Given the description of an element on the screen output the (x, y) to click on. 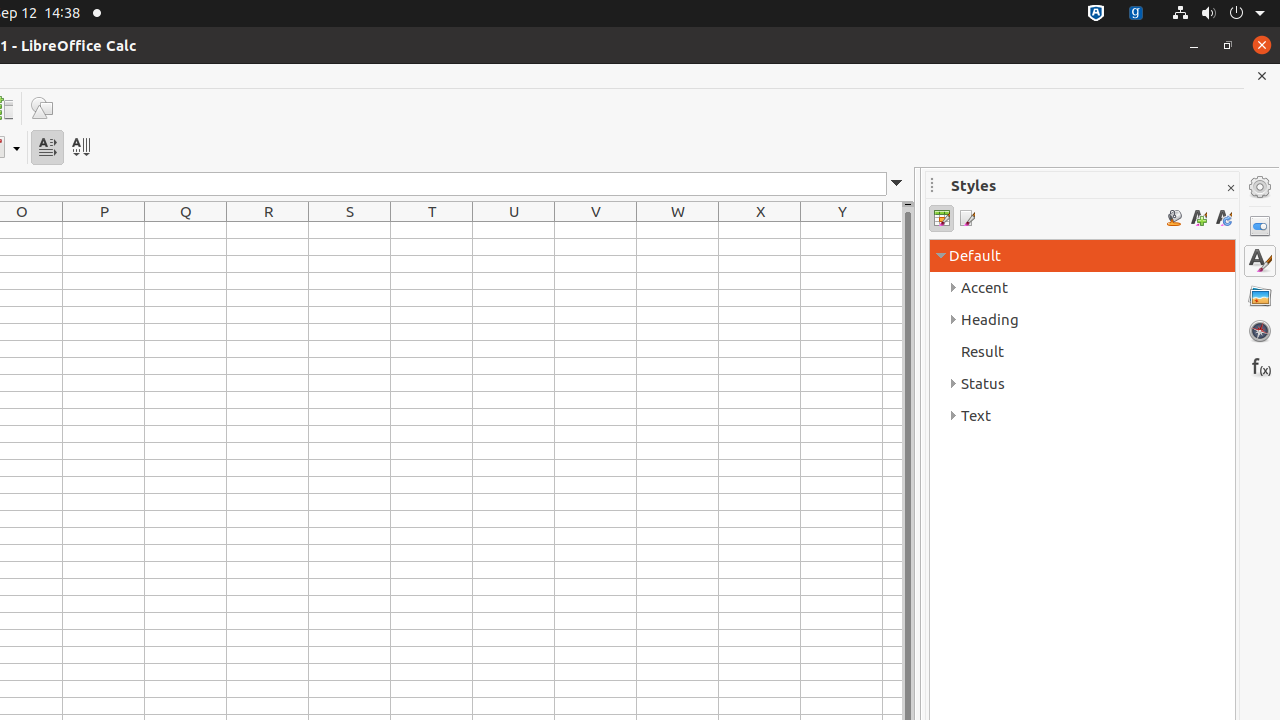
S1 Element type: table-cell (350, 230)
P1 Element type: table-cell (104, 230)
Expand Formula Bar Element type: push-button (897, 183)
X1 Element type: table-cell (760, 230)
Cell Styles Element type: push-button (941, 218)
